Given the description of an element on the screen output the (x, y) to click on. 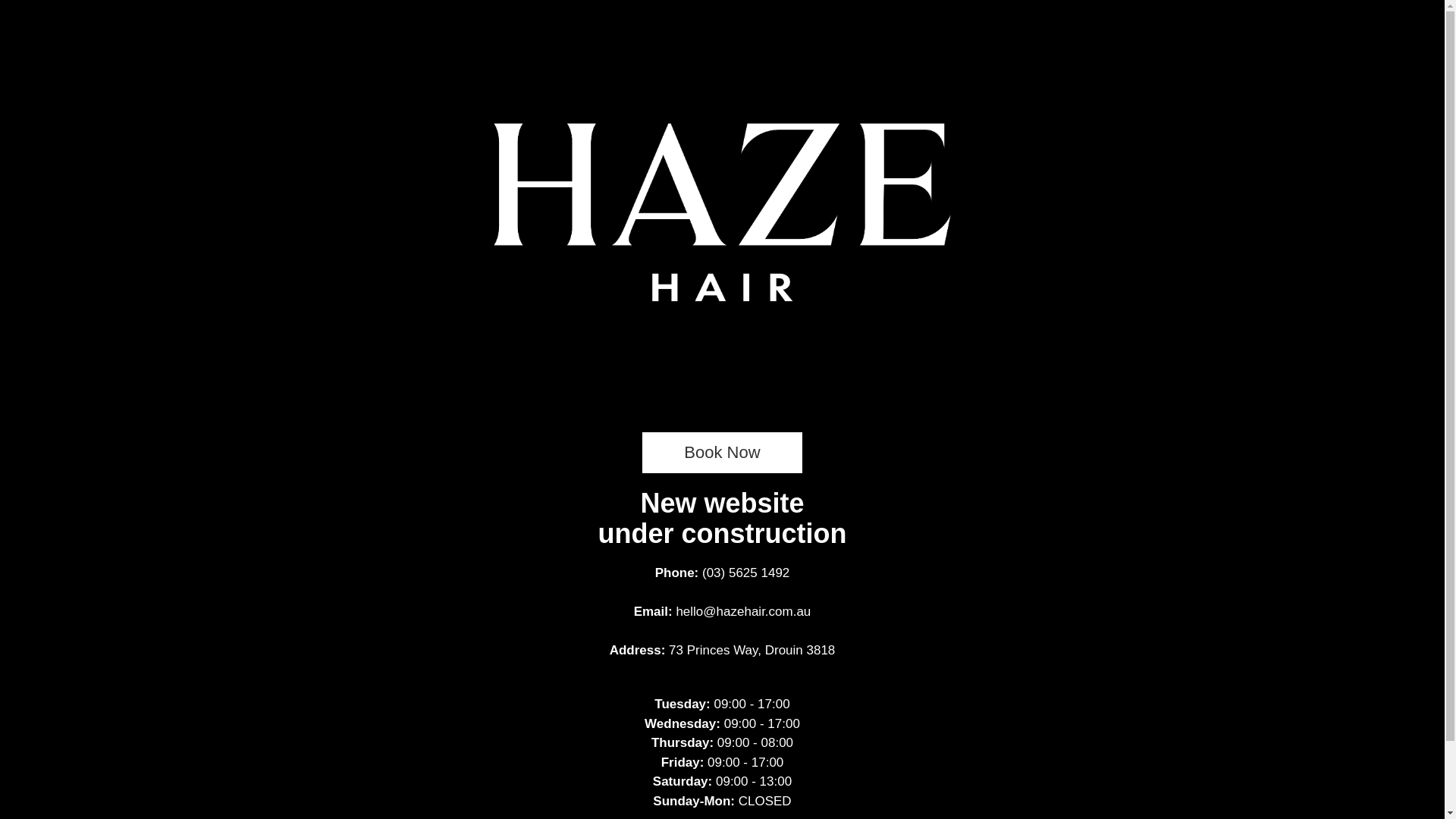
Book Now Element type: text (721, 452)
